Given the description of an element on the screen output the (x, y) to click on. 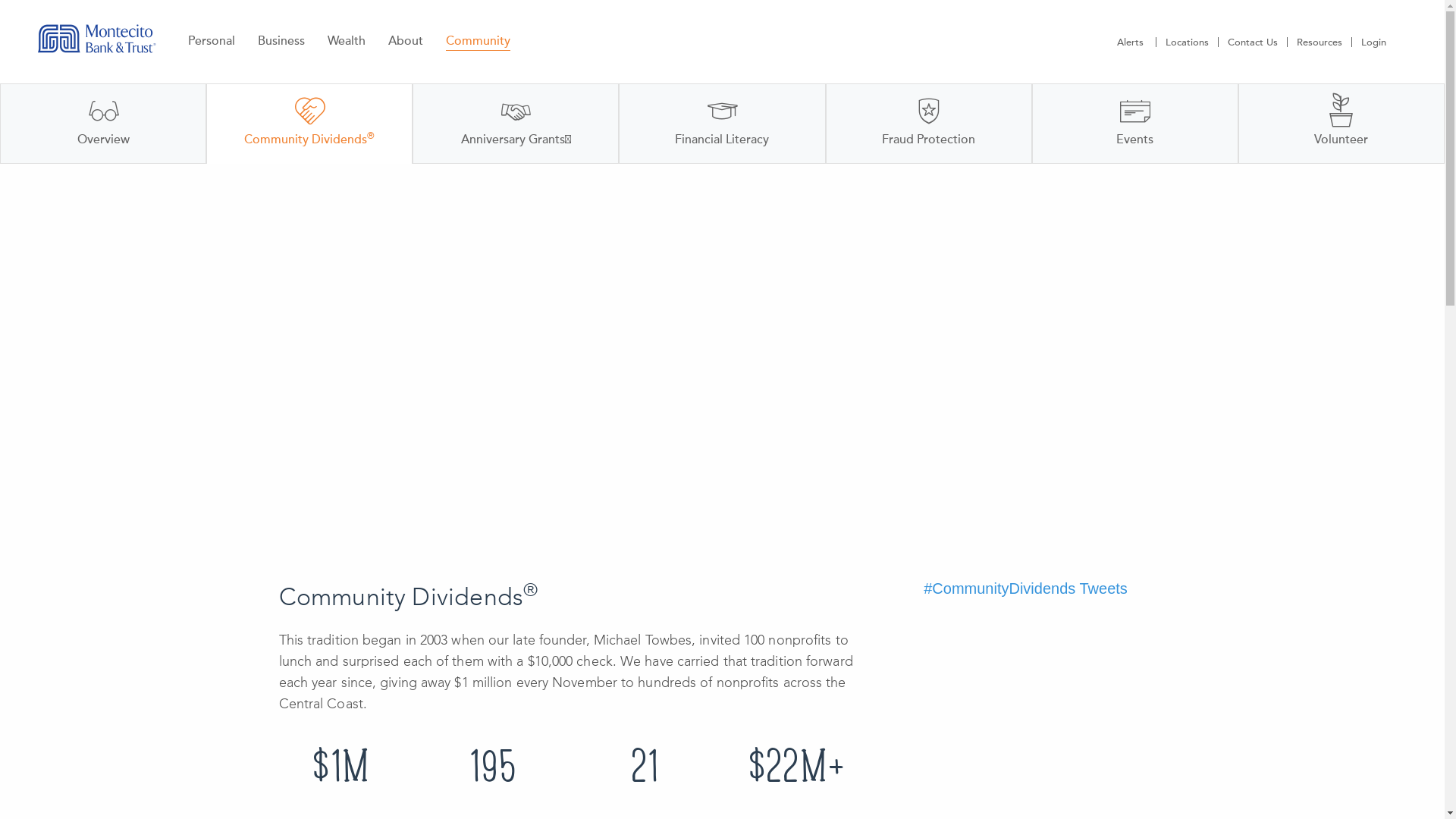
Fraud Protection Element type: text (928, 123)
Locations Element type: text (1187, 42)
Financial Literacy Element type: text (721, 123)
Personal Element type: text (211, 40)
Resources Element type: text (1319, 42)
Wealth Element type: text (346, 40)
Community Element type: text (477, 40)
Volunteer Element type: text (1341, 123)
Contact Us Element type: text (1252, 42)
Alerts Element type: text (1132, 42)
Events Element type: text (1135, 123)
Overview Element type: text (103, 123)
Login Element type: text (1373, 42)
#CommunityDividends Tweets Element type: text (1025, 588)
About Element type: text (405, 40)
Business Element type: text (280, 40)
